Given the description of an element on the screen output the (x, y) to click on. 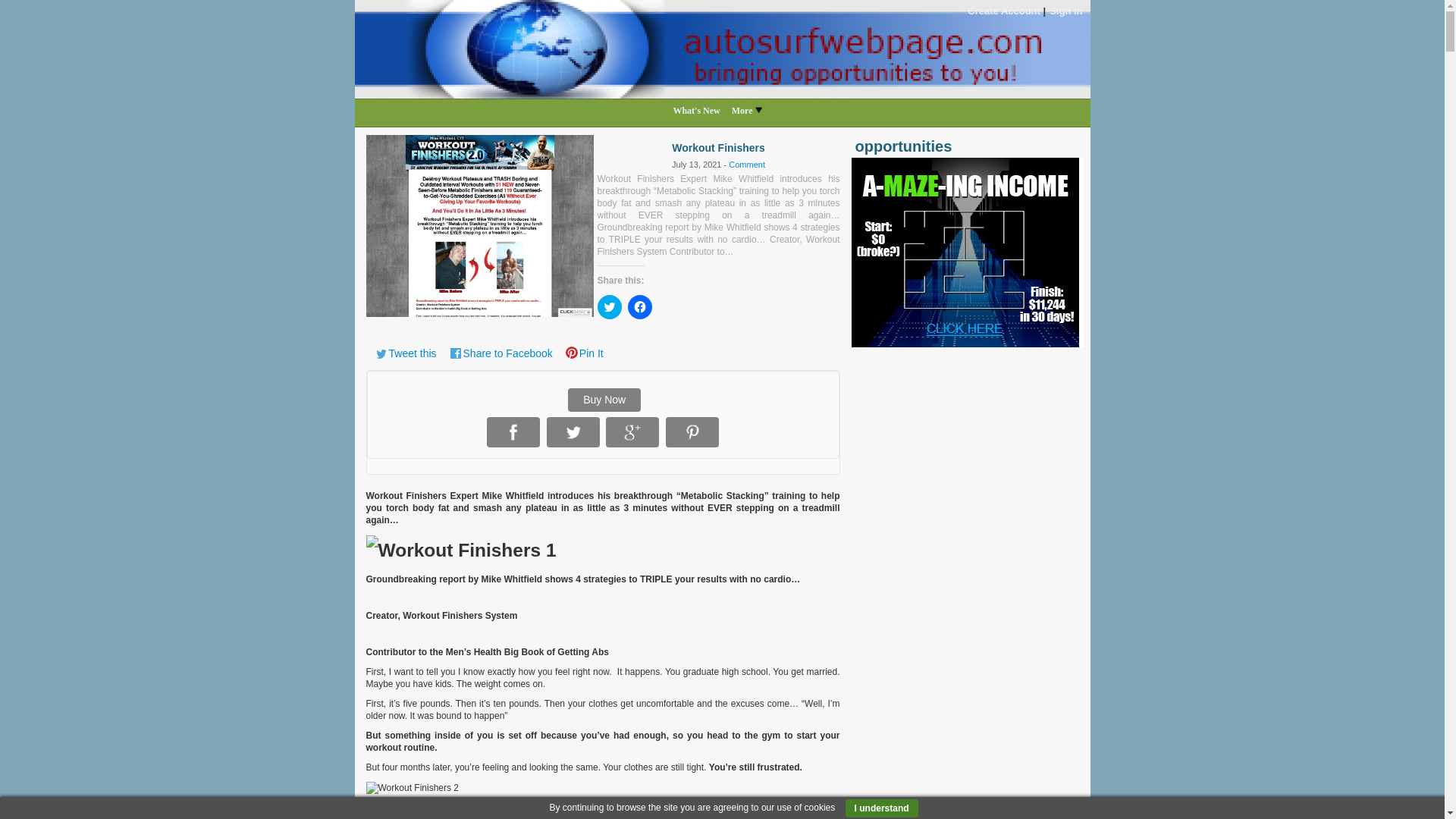
Comment (747, 163)
Workout Finishers (478, 224)
Auto Surf Web Page (722, 49)
More (751, 110)
Workout Finishers 3 (632, 431)
Click to share on Twitter (608, 306)
Workout Finishers 4 (692, 431)
Create Account (1004, 10)
Workout Finishers (478, 225)
Workout Finishers 5 (460, 550)
Workout Finishers 2 (573, 431)
More (751, 110)
What's New (701, 110)
Sign In (1065, 10)
Workout Finishers 1 (513, 431)
